Given the description of an element on the screen output the (x, y) to click on. 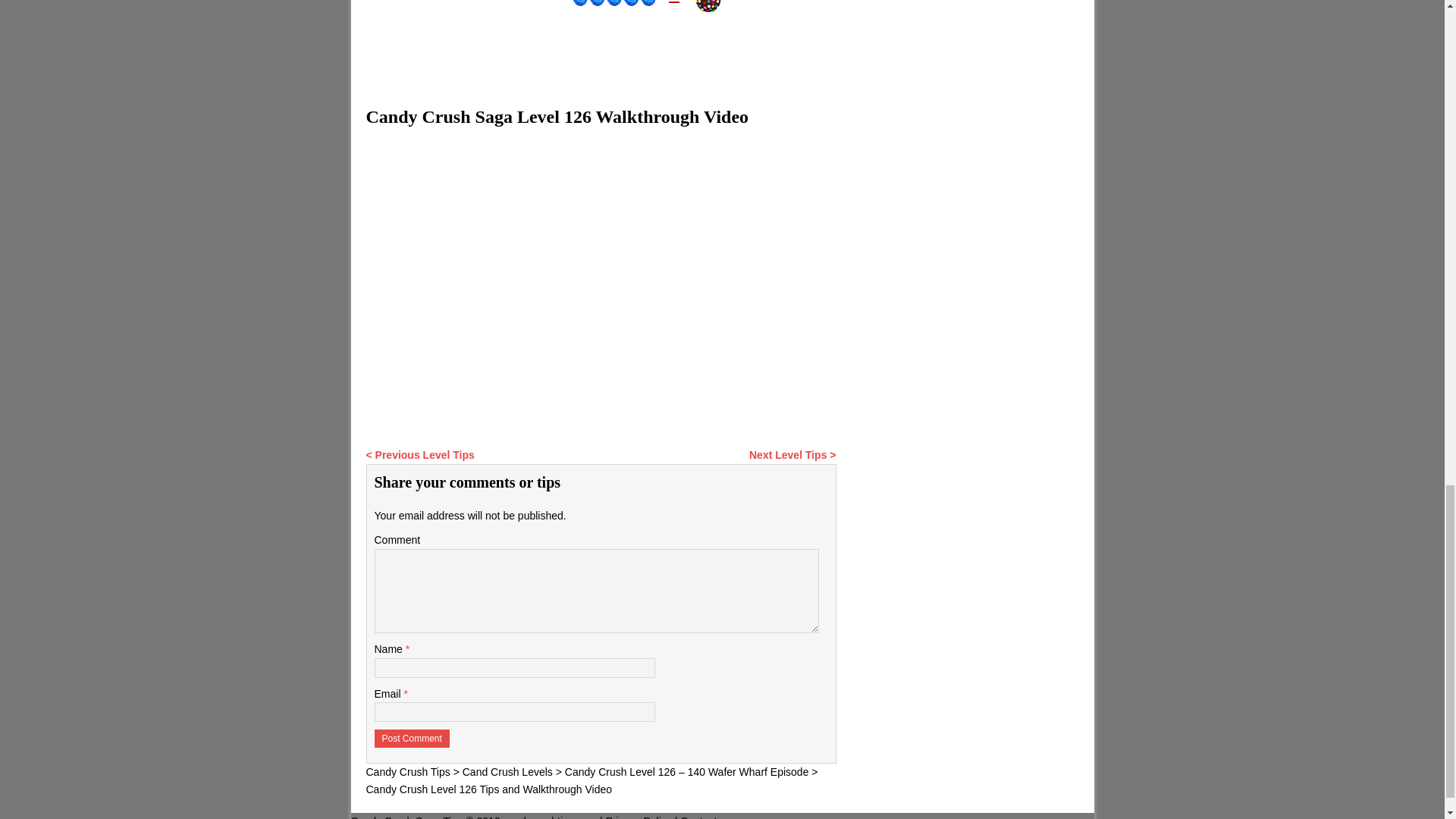
Cand Crush Levels (508, 771)
Go to Candy Crush Tips. (407, 771)
Post Comment (411, 738)
Go to the Cand Crush Levels Category archives. (508, 771)
Candy Crush Tips (407, 771)
Post Comment (411, 738)
